Given the description of an element on the screen output the (x, y) to click on. 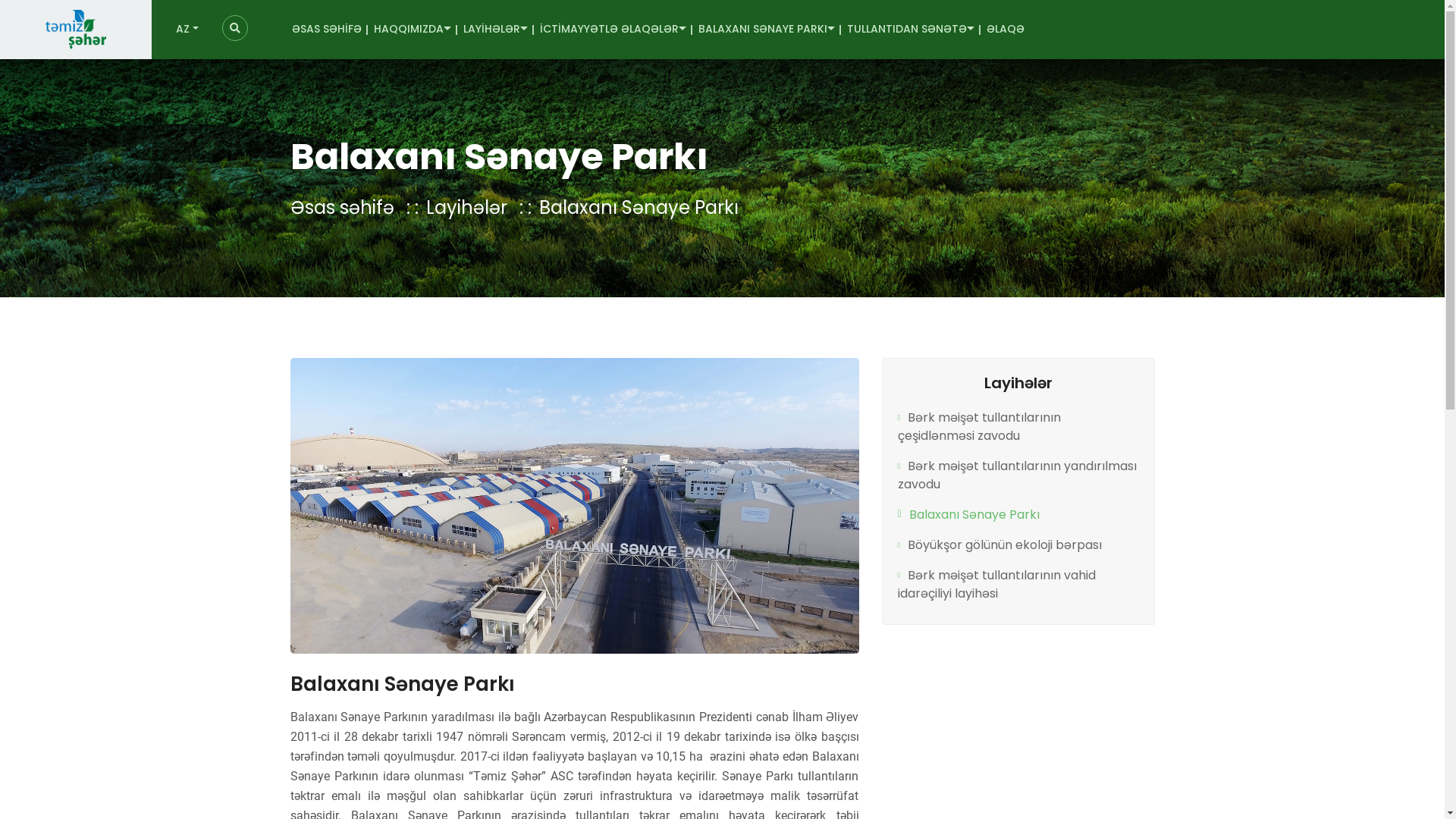
HAQQIMIZDA Element type: text (412, 29)
AZ Element type: text (186, 29)
